Given the description of an element on the screen output the (x, y) to click on. 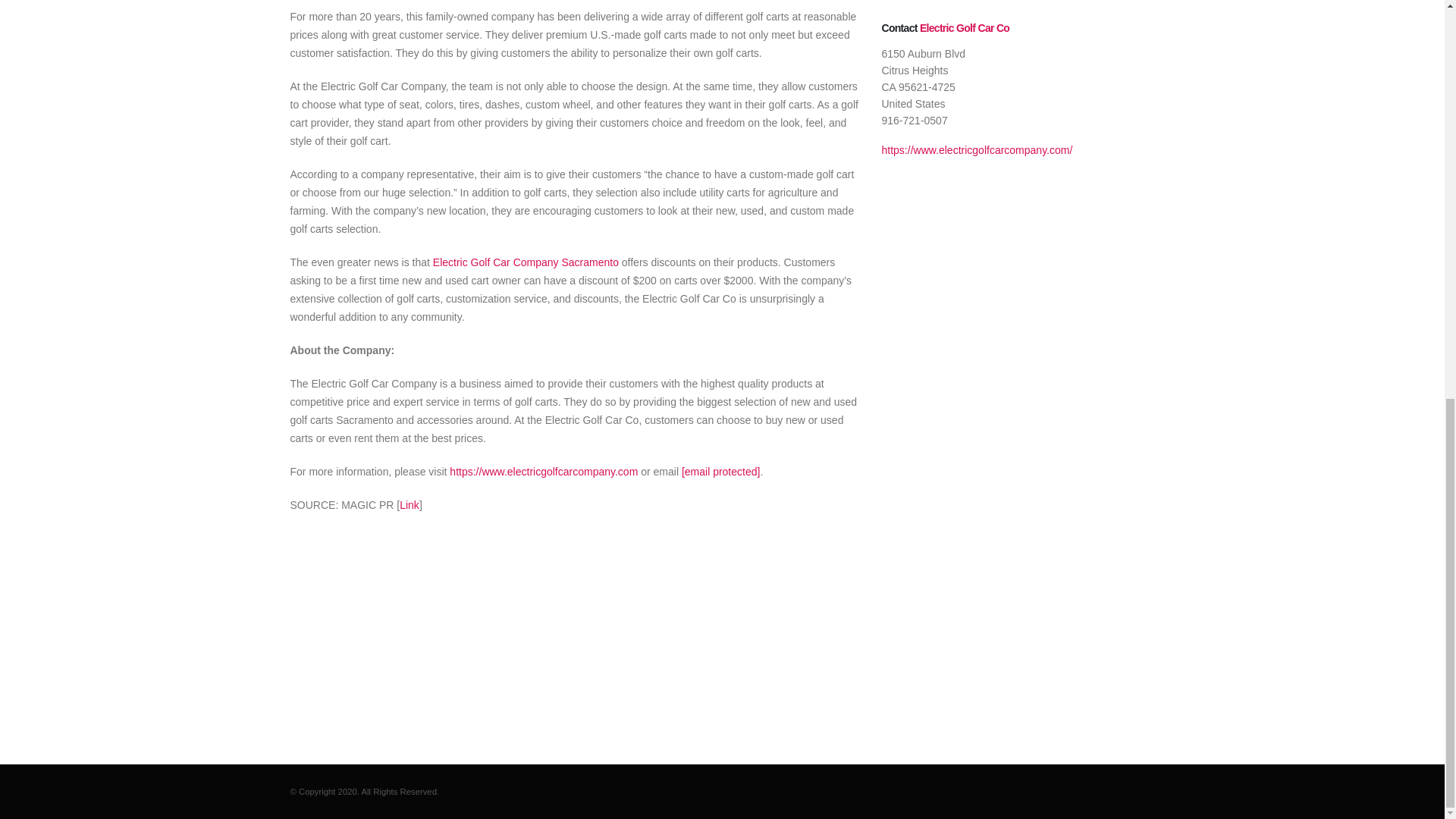
Electric Golf Car Company Sacramento (525, 262)
Electric Golf Car Co (964, 28)
Link (408, 504)
